Given the description of an element on the screen output the (x, y) to click on. 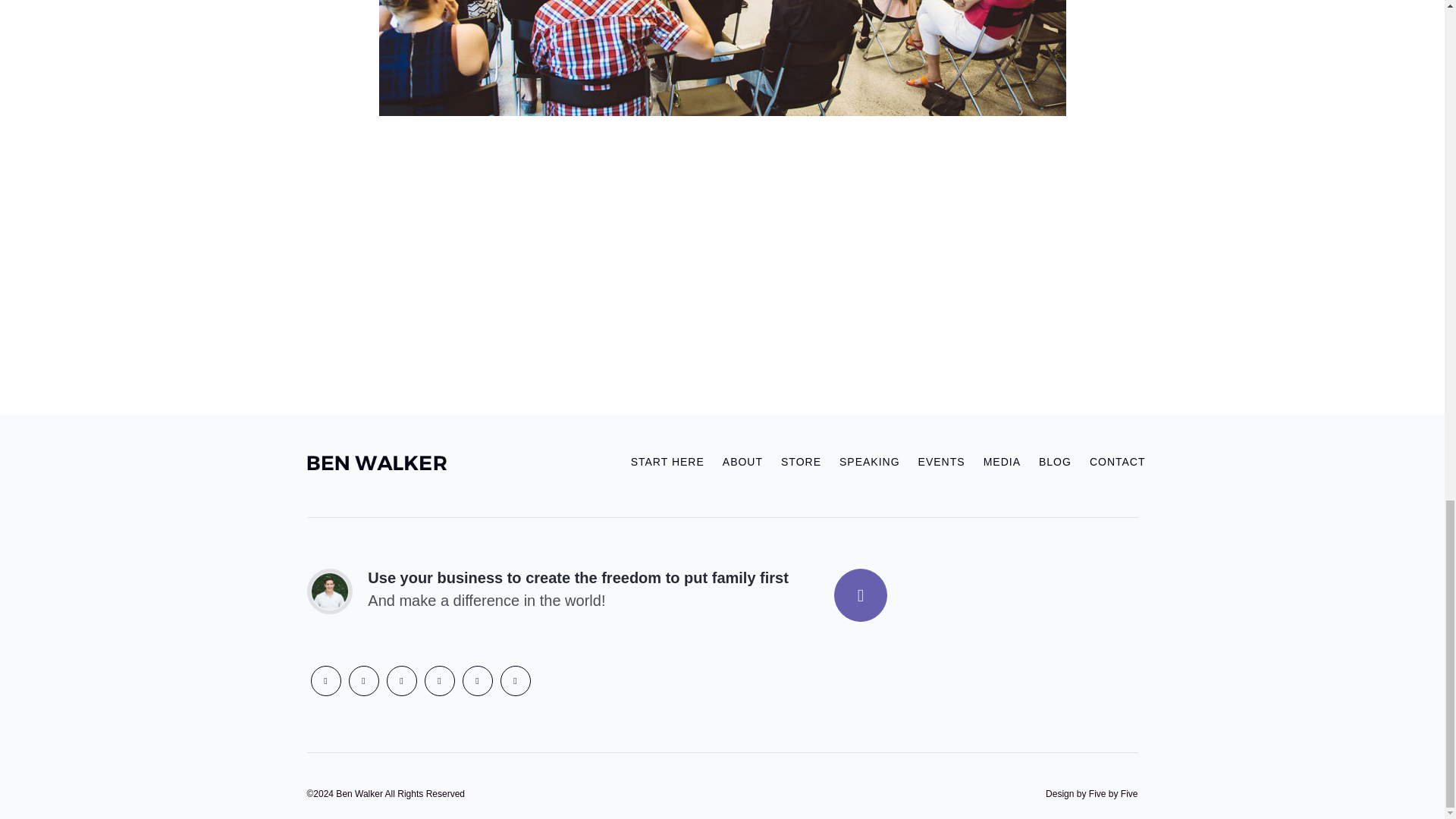
MEDIA (1001, 461)
BLOG (1054, 461)
ABOUT (742, 461)
Media (1001, 461)
Speaking (868, 461)
EVENTS (941, 461)
Events (941, 461)
Contact (1112, 461)
SPEAKING (868, 461)
STORE (800, 461)
CONTACT (1112, 461)
Blog (1054, 461)
About (742, 461)
START HERE (667, 461)
